Given the description of an element on the screen output the (x, y) to click on. 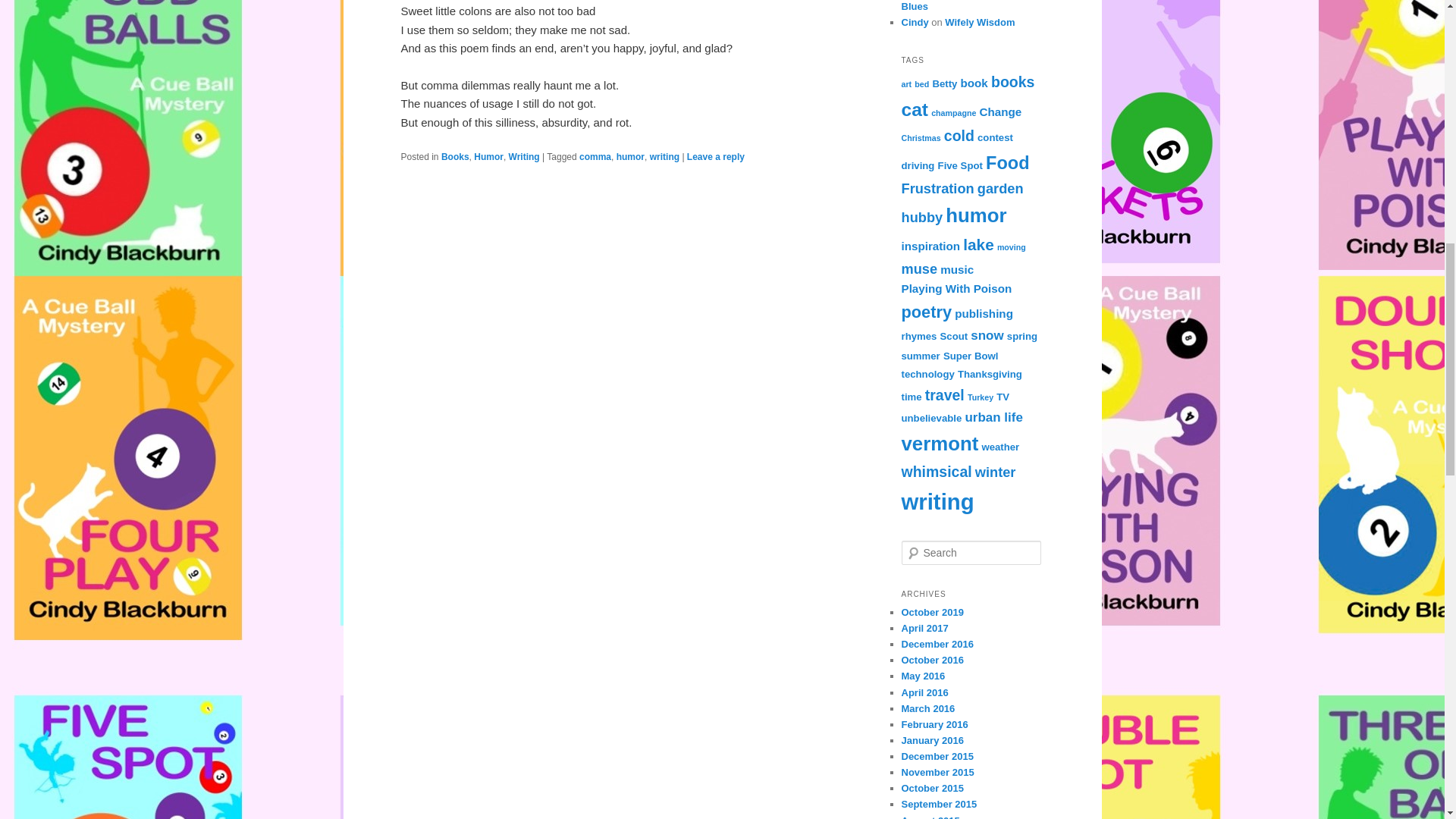
Books (454, 156)
Humor (488, 156)
comma (595, 156)
Writing (524, 156)
Leave a reply (715, 156)
The Manicure News Blues (968, 6)
Cindy (914, 21)
Wifely Wisdom (979, 21)
humor (630, 156)
writing (664, 156)
